Given the description of an element on the screen output the (x, y) to click on. 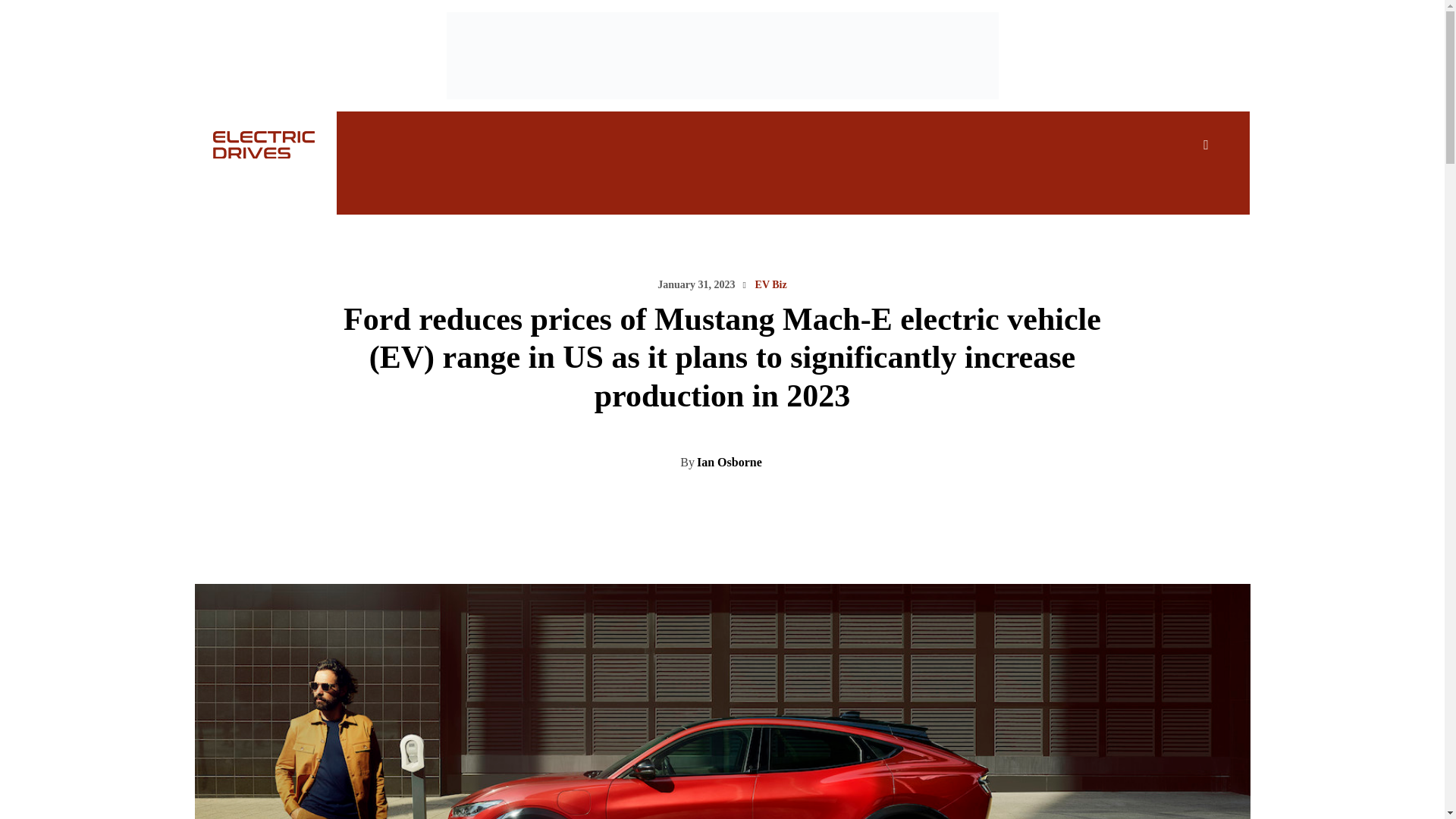
Elecctric Drives (246, 144)
